Given the description of an element on the screen output the (x, y) to click on. 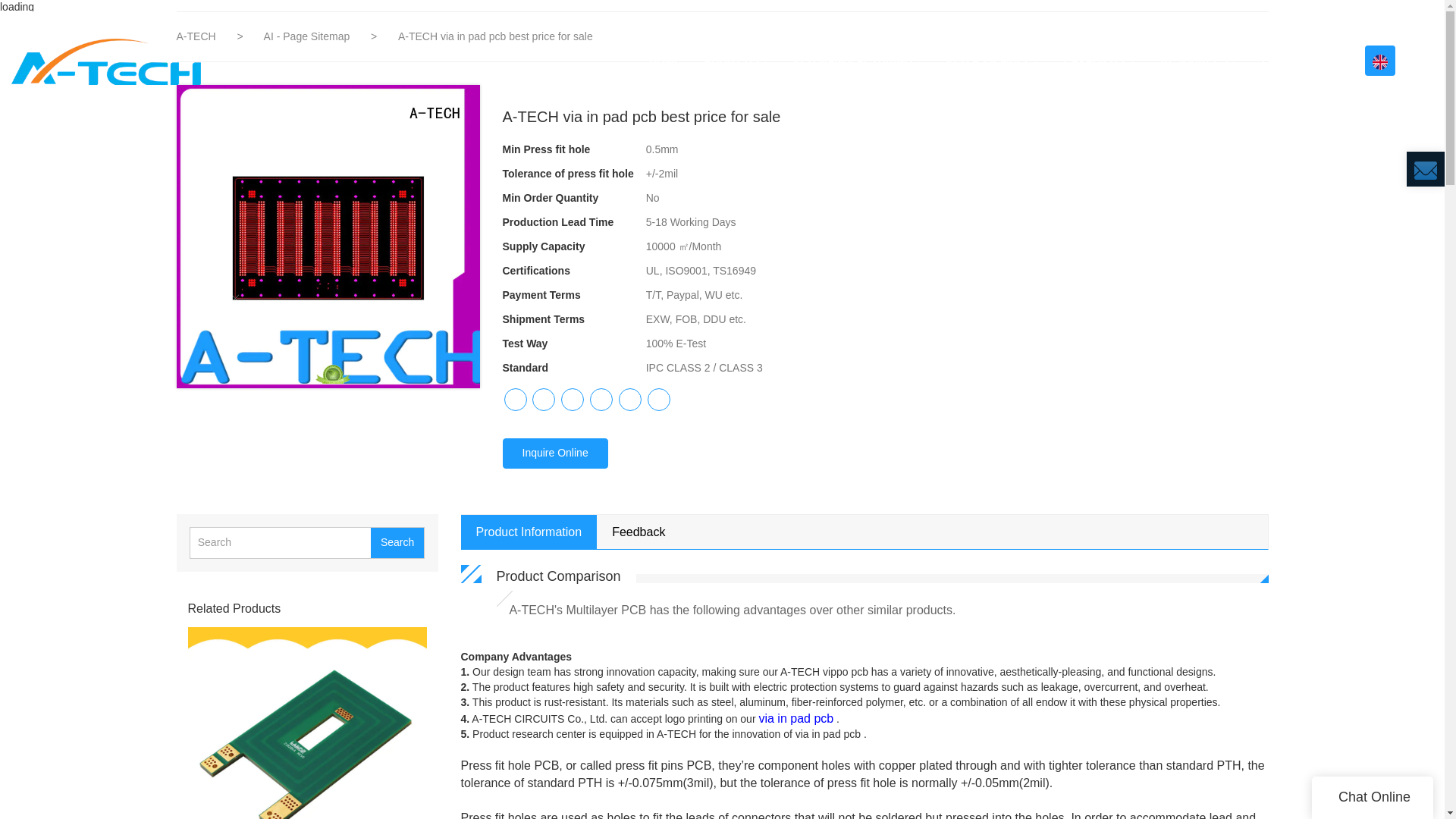
CONTACT US (1296, 60)
AI - Page Sitemap (308, 36)
CAPABILITY (1101, 60)
ABOUT US (737, 60)
PCB MANUFACTURING (857, 60)
A-TECH (197, 36)
PCB ASSEMBLY (992, 60)
RESOURCES (1200, 60)
